Given the description of an element on the screen output the (x, y) to click on. 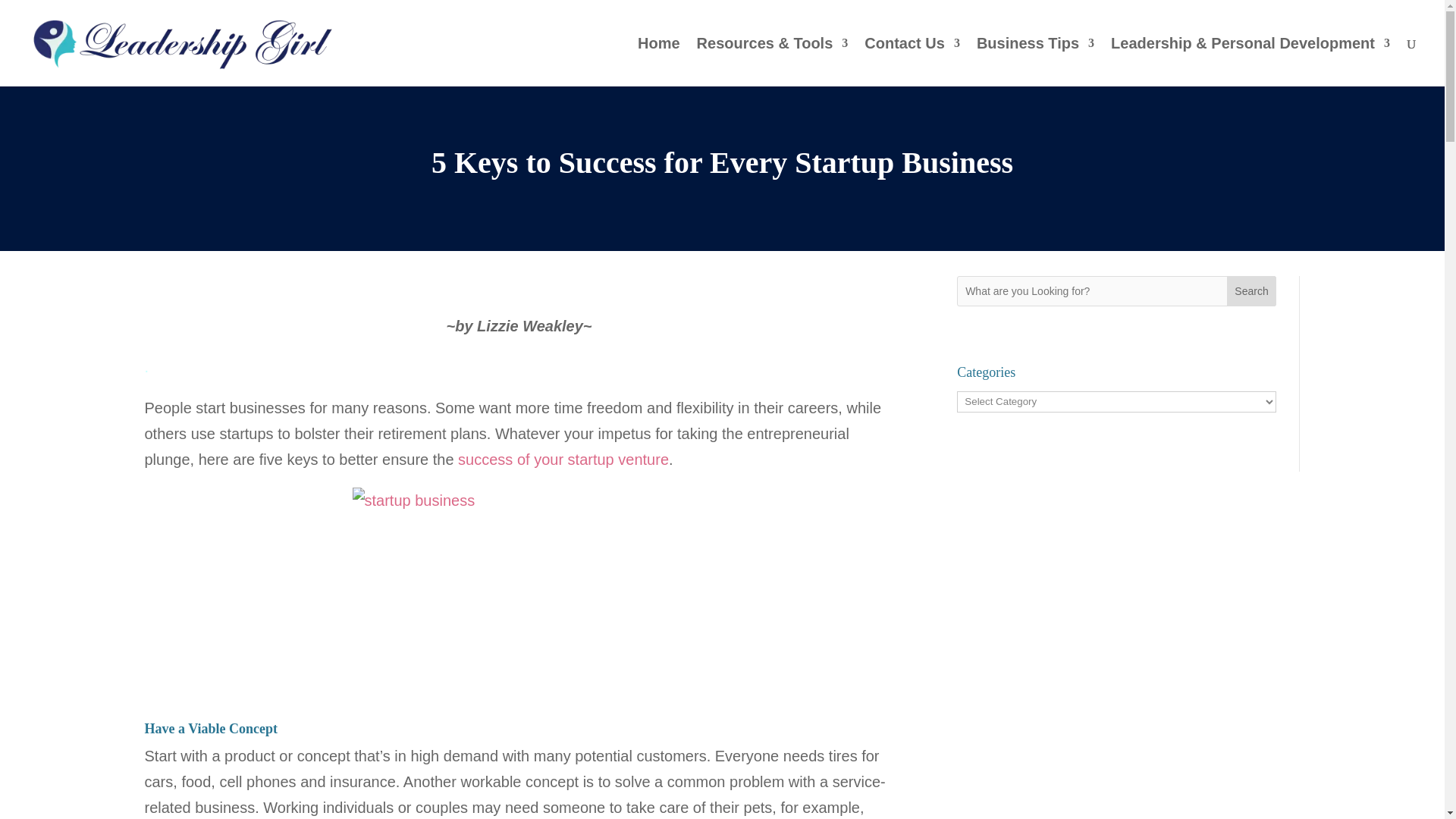
Contact Us (911, 61)
Business Tips (1035, 61)
Contact Us (911, 61)
Business Tips (1035, 61)
